Given the description of an element on the screen output the (x, y) to click on. 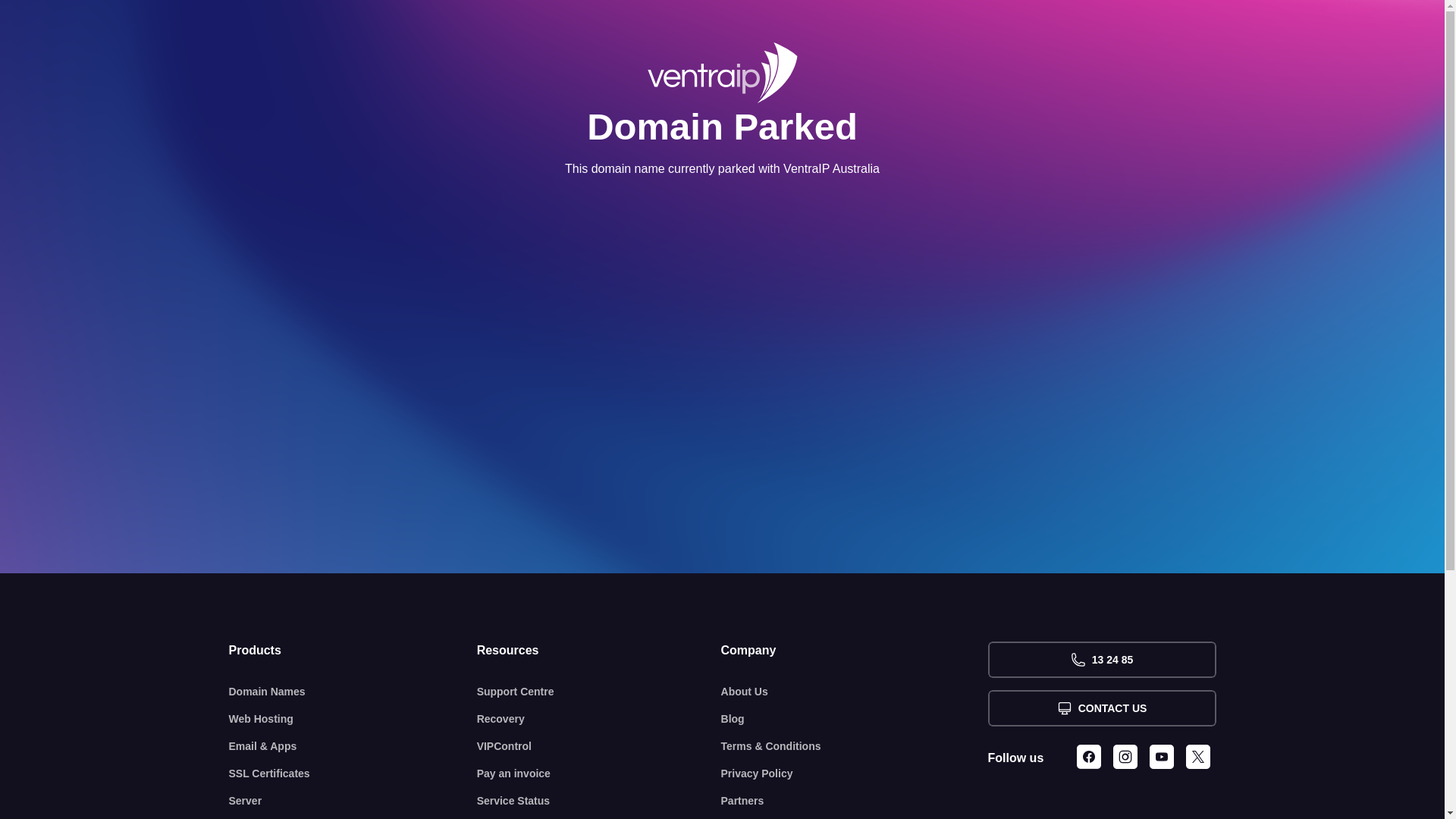
CONTACT US Element type: text (1101, 708)
13 24 85 Element type: text (1101, 659)
About Us Element type: text (854, 691)
Domain Names Element type: text (352, 691)
Web Hosting Element type: text (352, 718)
Blog Element type: text (854, 718)
VIPControl Element type: text (598, 745)
Support Centre Element type: text (598, 691)
Pay an invoice Element type: text (598, 773)
Terms & Conditions Element type: text (854, 745)
Email & Apps Element type: text (352, 745)
Server Element type: text (352, 800)
Recovery Element type: text (598, 718)
Privacy Policy Element type: text (854, 773)
SSL Certificates Element type: text (352, 773)
Service Status Element type: text (598, 800)
Partners Element type: text (854, 800)
